Given the description of an element on the screen output the (x, y) to click on. 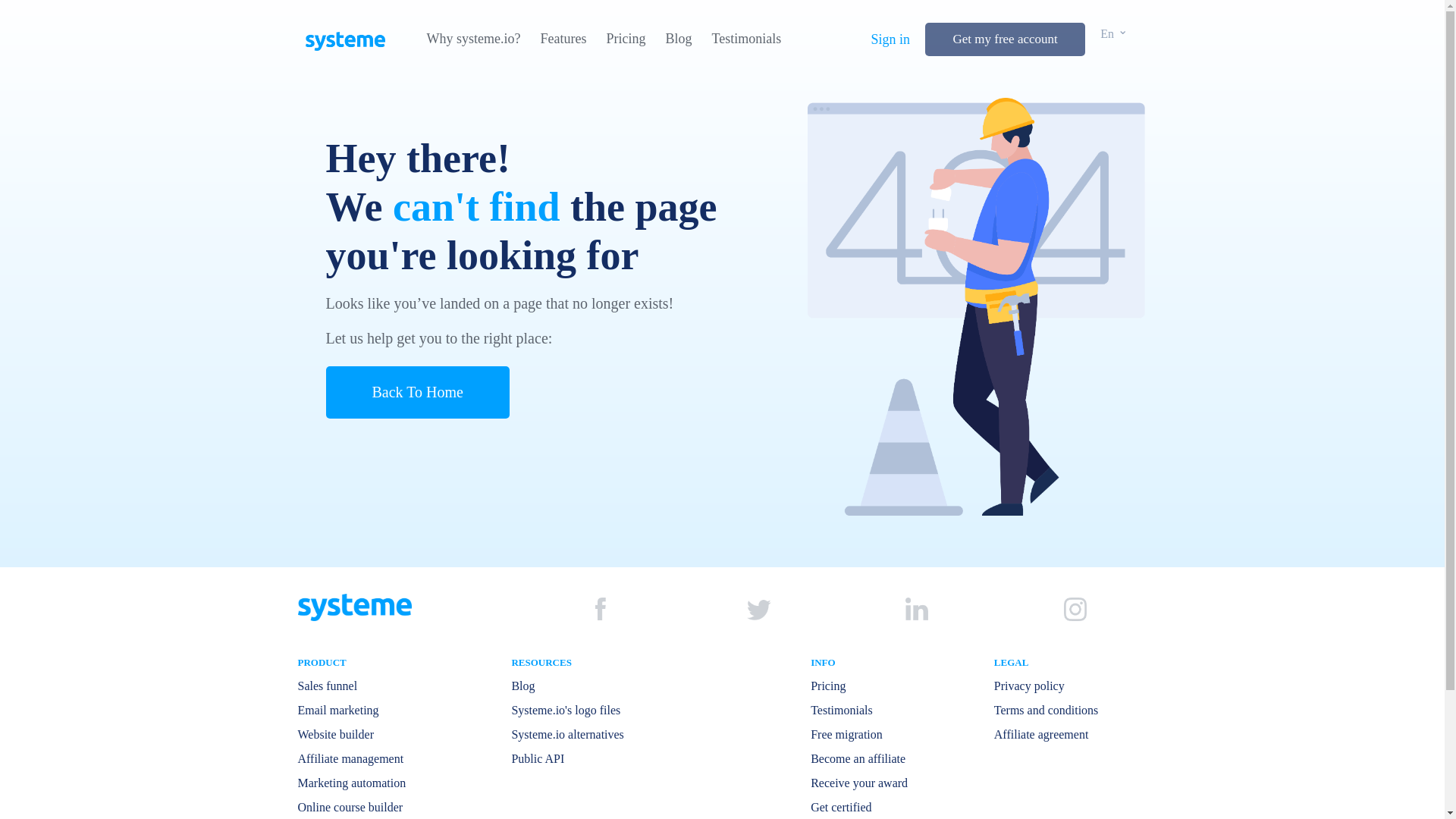
Testimonials (745, 38)
Features (563, 38)
Why systeme.io? (472, 38)
Pricing (625, 38)
Get my free account (1004, 39)
Blog (678, 38)
Sign in (890, 39)
